Given the description of an element on the screen output the (x, y) to click on. 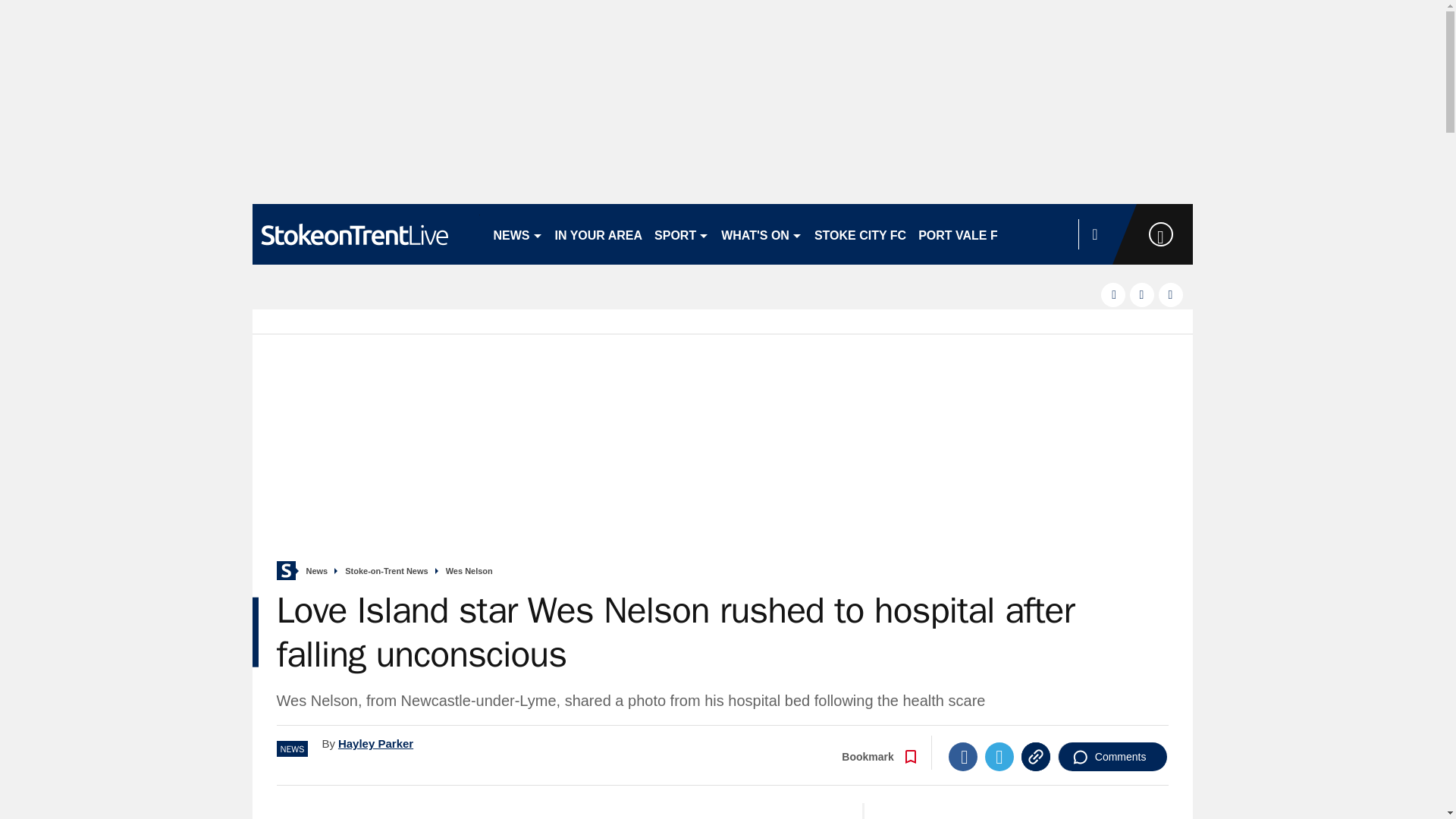
stokesentinel (365, 233)
STOKE CITY FC (860, 233)
Comments (1112, 756)
instagram (1170, 294)
SPORT (680, 233)
facebook (1112, 294)
WHAT'S ON (761, 233)
PORT VALE FC (961, 233)
Facebook (962, 756)
NEWS (517, 233)
Twitter (999, 756)
twitter (1141, 294)
IN YOUR AREA (598, 233)
